Given the description of an element on the screen output the (x, y) to click on. 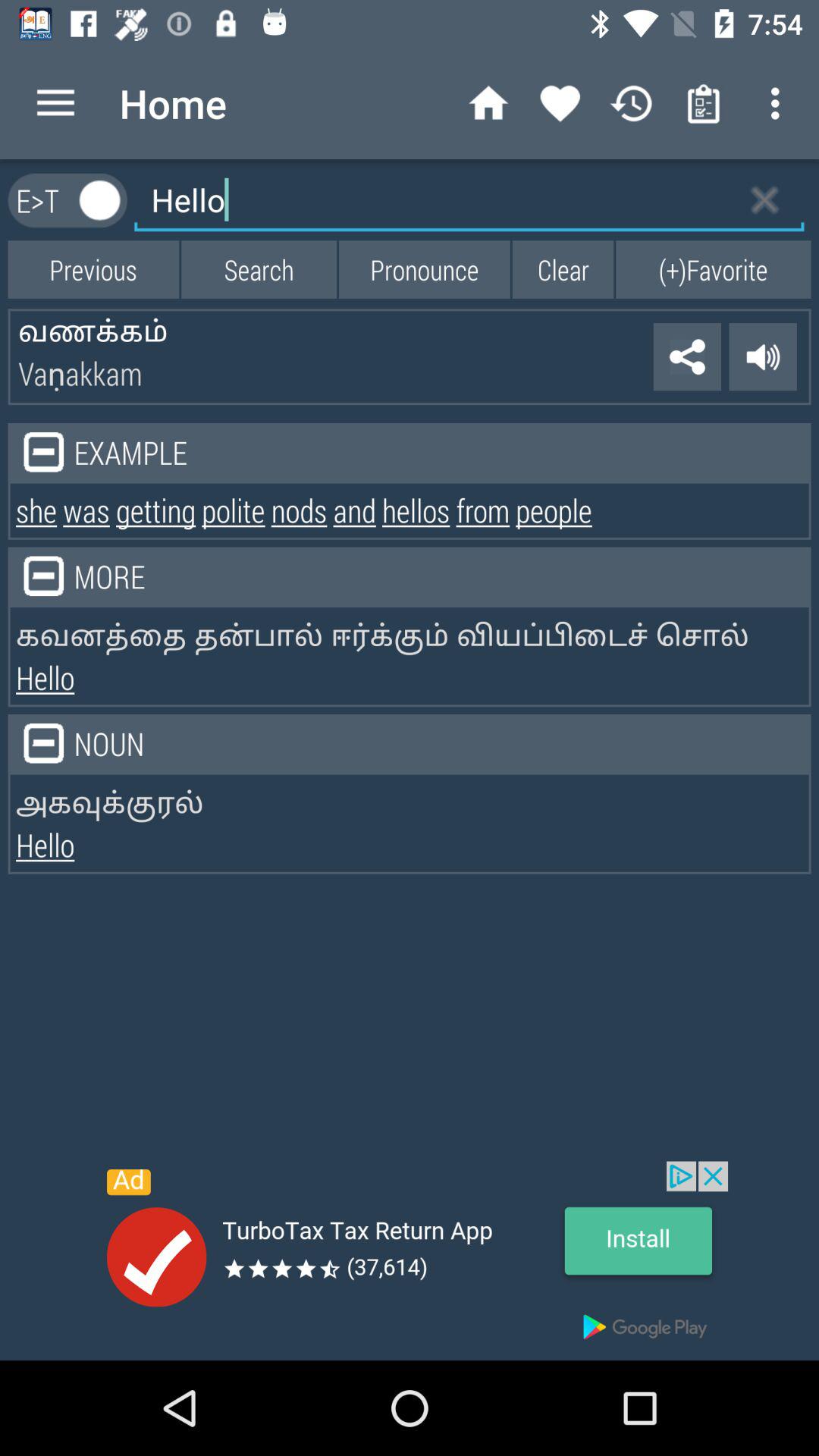
install turbotax (409, 1260)
